Given the description of an element on the screen output the (x, y) to click on. 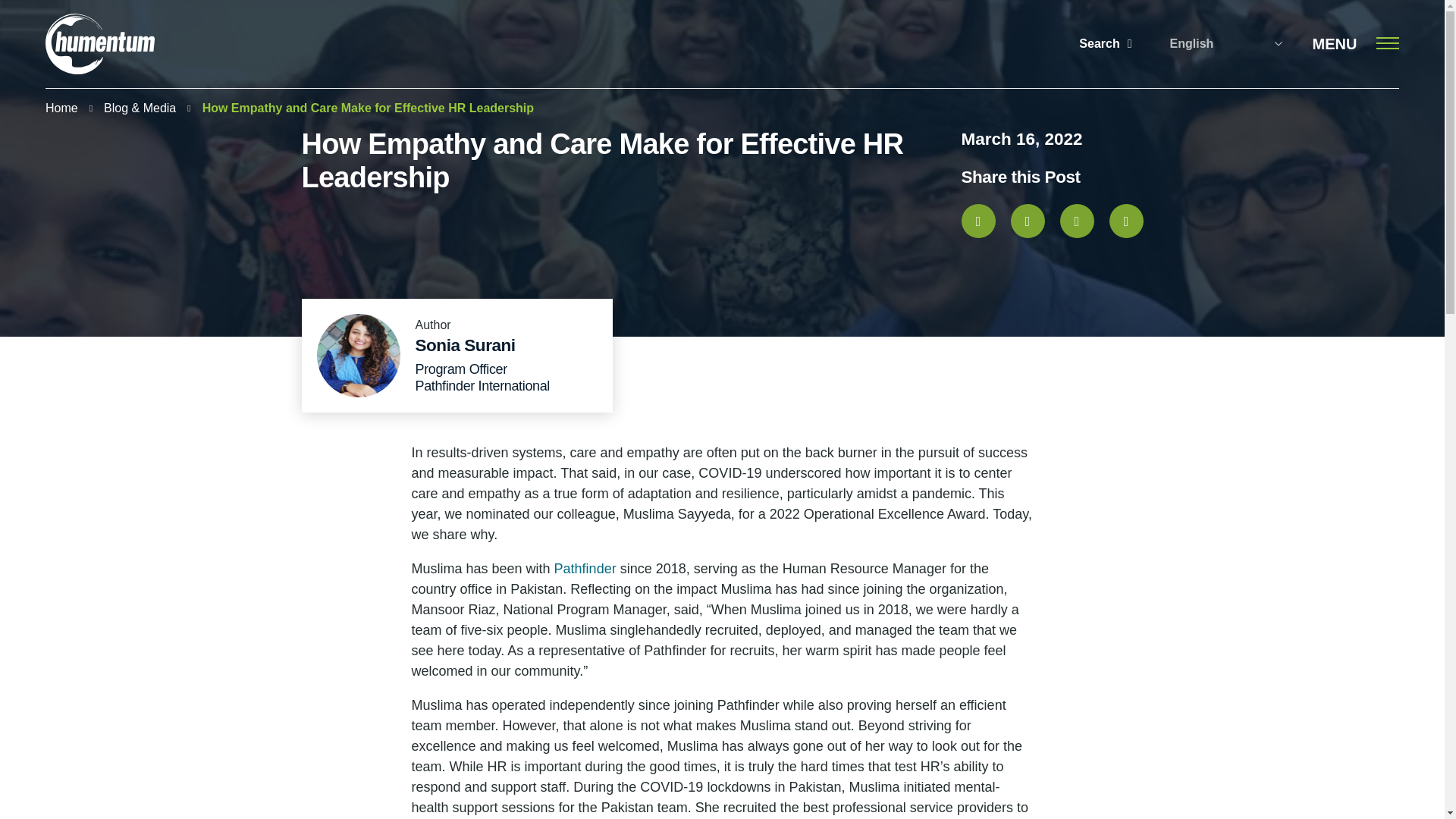
Share on LinkedIn (1076, 220)
Share on Facebook (977, 220)
MENU (1356, 43)
Send email (1125, 220)
Tweet (1026, 220)
